Given the description of an element on the screen output the (x, y) to click on. 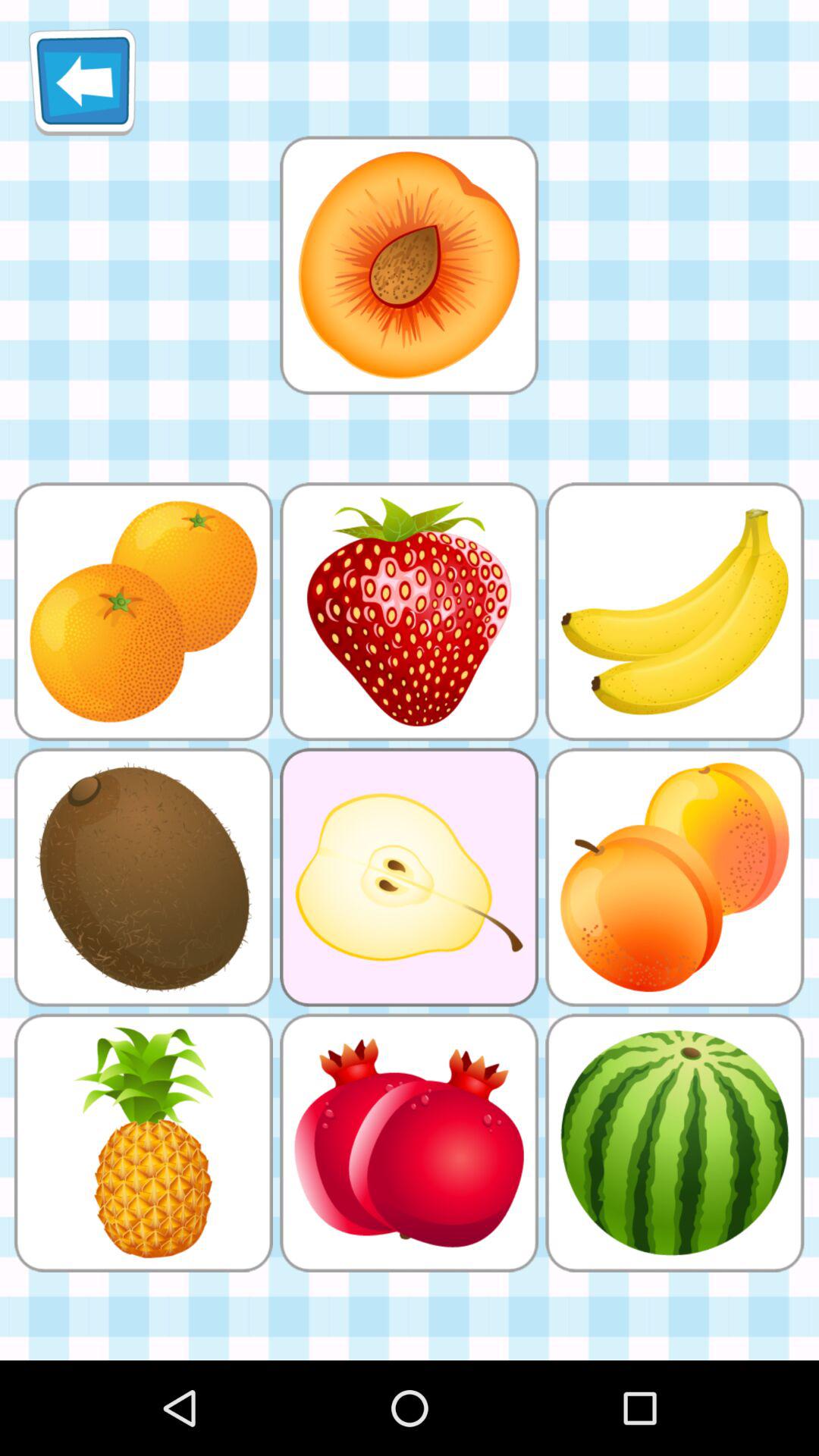
choose peach (409, 265)
